Given the description of an element on the screen output the (x, y) to click on. 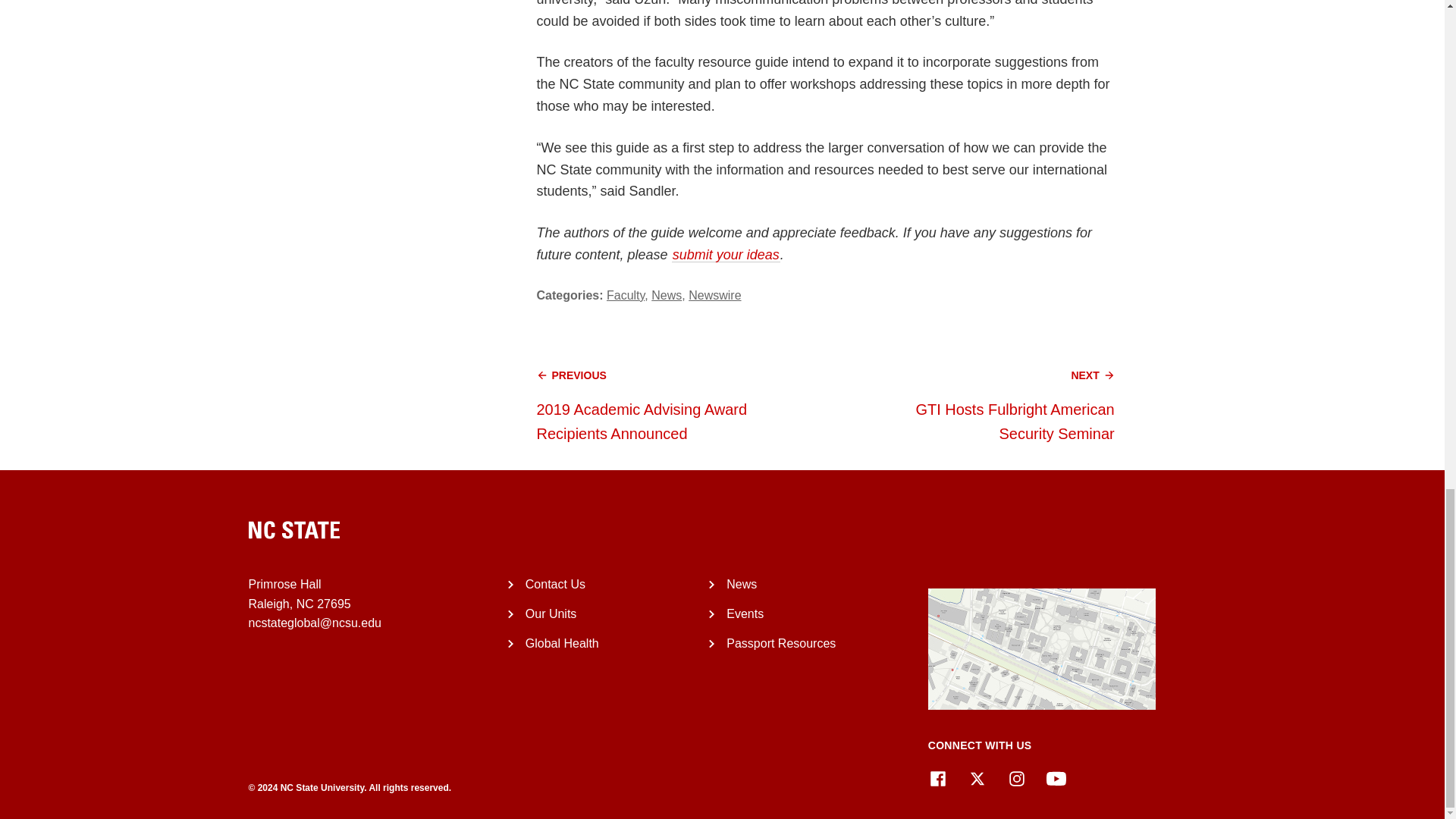
Instagram (1016, 778)
X (977, 778)
Facebook (937, 778)
YouTube (1055, 778)
